Given the description of an element on the screen output the (x, y) to click on. 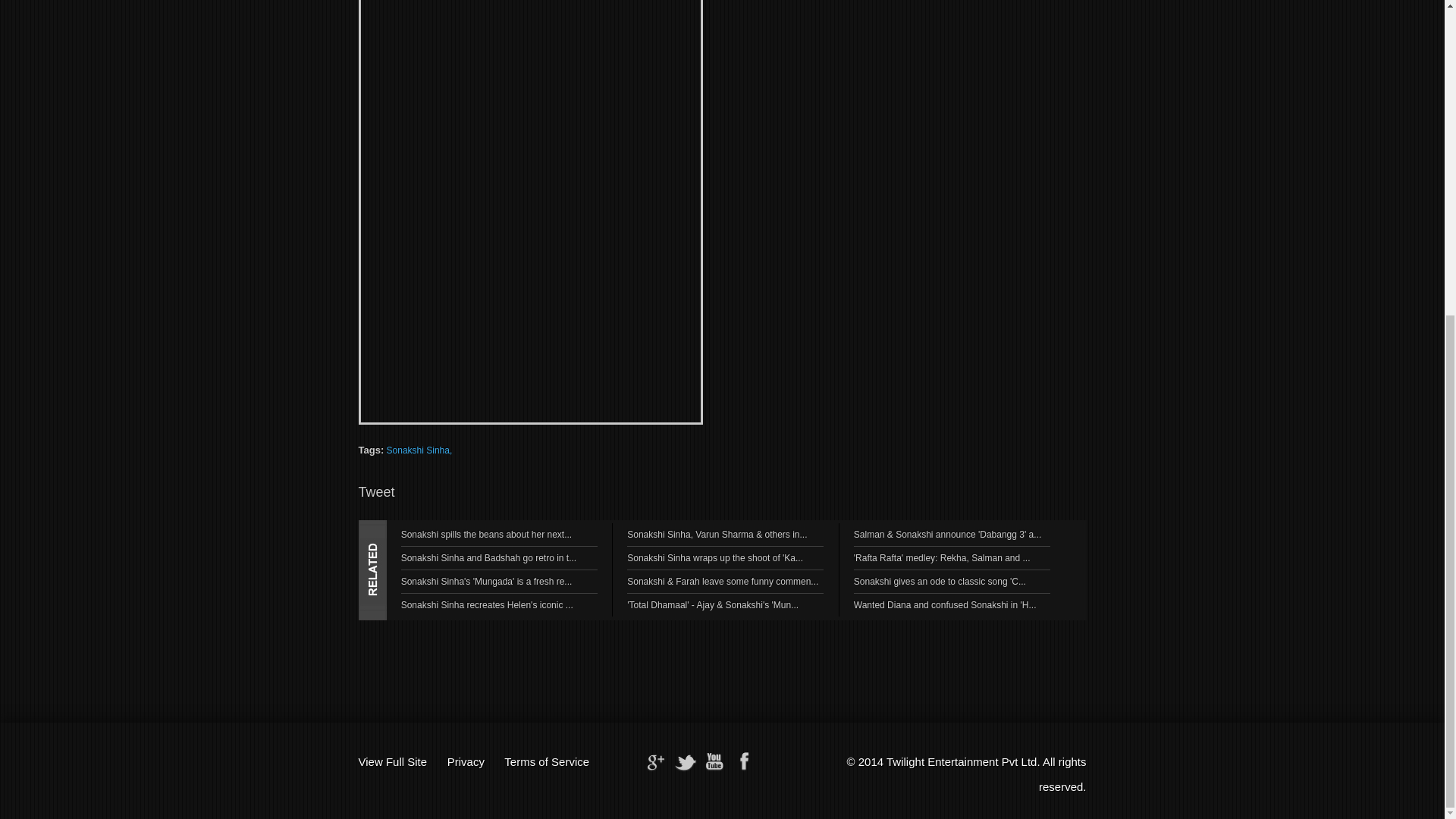
Twilight Entertainment Pvt Ltd. (963, 761)
Sonakshi Sinha and Badshah go retro in t... (488, 557)
Sonakshi Sinha wraps up the shoot of 'Kalank' (715, 557)
Sonakshi Sinha and Badshah go retro in their next! (488, 557)
Terms of Service (546, 761)
Tweet (376, 491)
Sonakshi Sinha recreates Helen's iconic song 'Mungda' (487, 604)
Sonakshi Sinha's 'Mungada' is a fresh re... (486, 581)
Sonakshi Sinha recreates Helen's iconic ... (487, 604)
'Rafta Rafta' medley: Rekha, Salman and ... (941, 557)
Wanted Diana and confused Sonakshi in 'HPBJ' new poster (944, 604)
Sonakshi gives an ode to classic song 'C... (939, 581)
Sonakshi Sinha's 'Mungada' is a fresh recreation (486, 581)
Sonakshi gives an ode to classic song 'Chin chin chu' (939, 581)
